Given the description of an element on the screen output the (x, y) to click on. 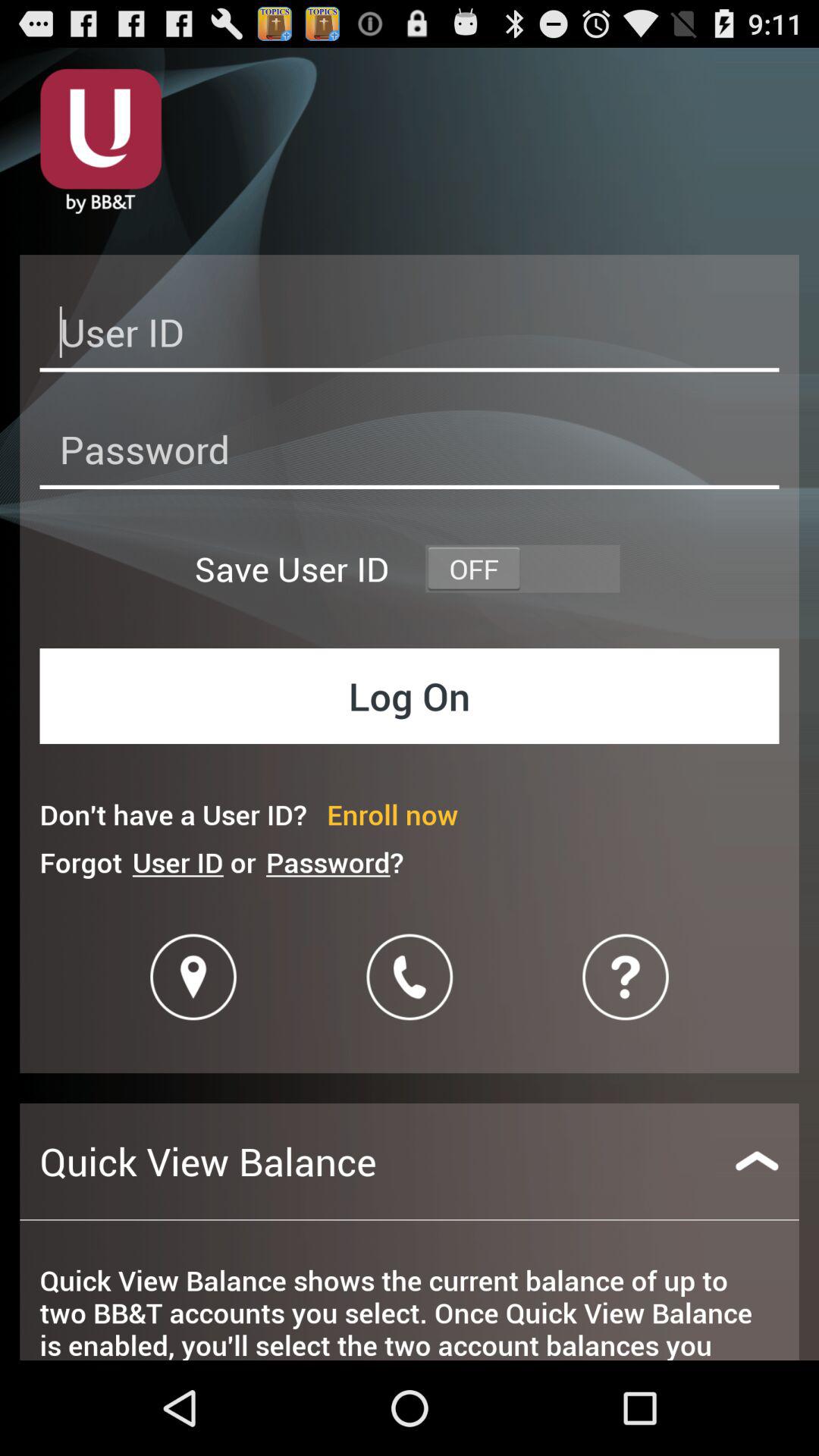
launch icon below the log on item (392, 814)
